Given the description of an element on the screen output the (x, y) to click on. 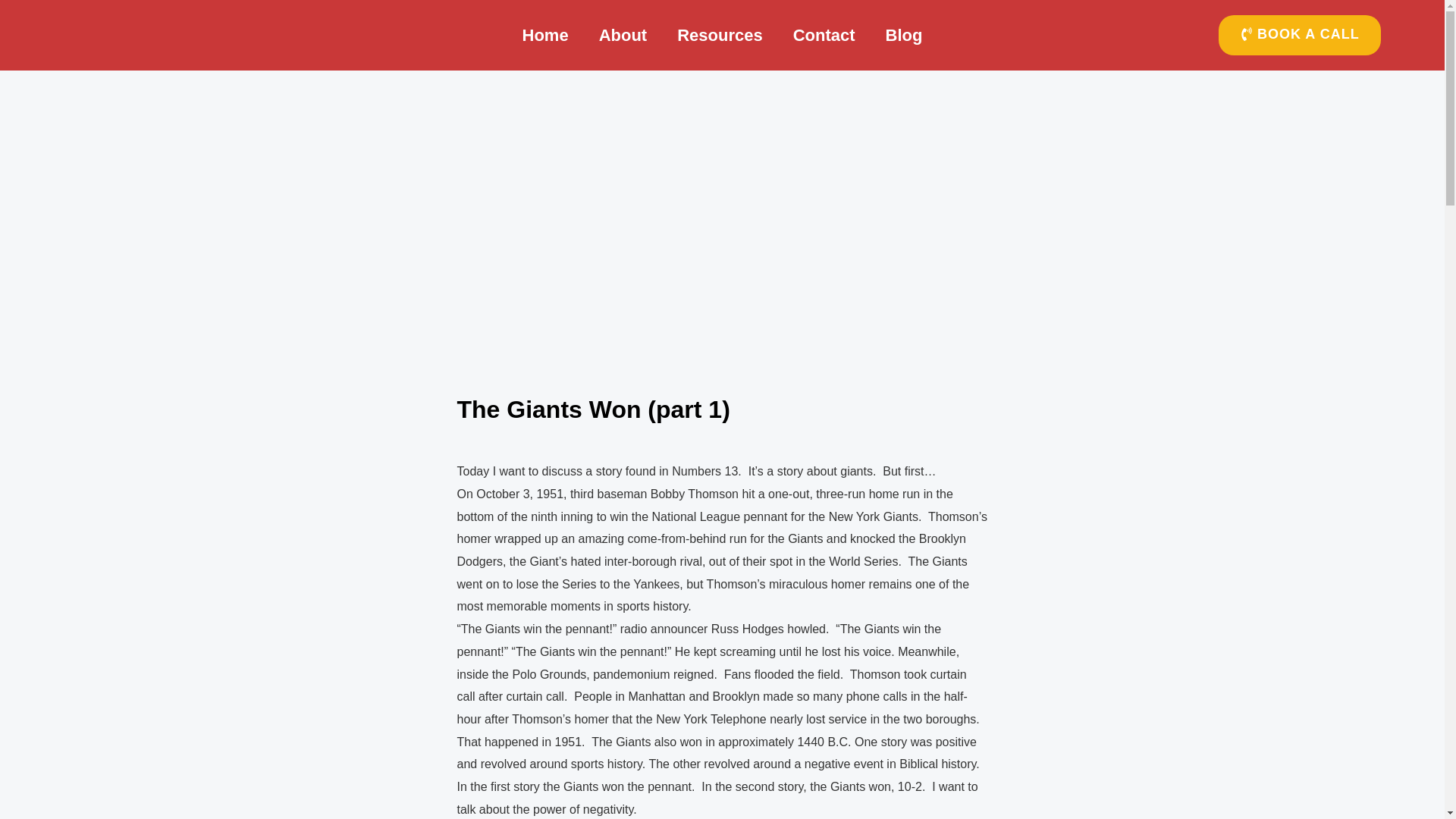
BOOK A CALL (1299, 35)
Contact (823, 35)
Home (544, 35)
Resources (719, 35)
Blog (903, 35)
About (622, 35)
